Given the description of an element on the screen output the (x, y) to click on. 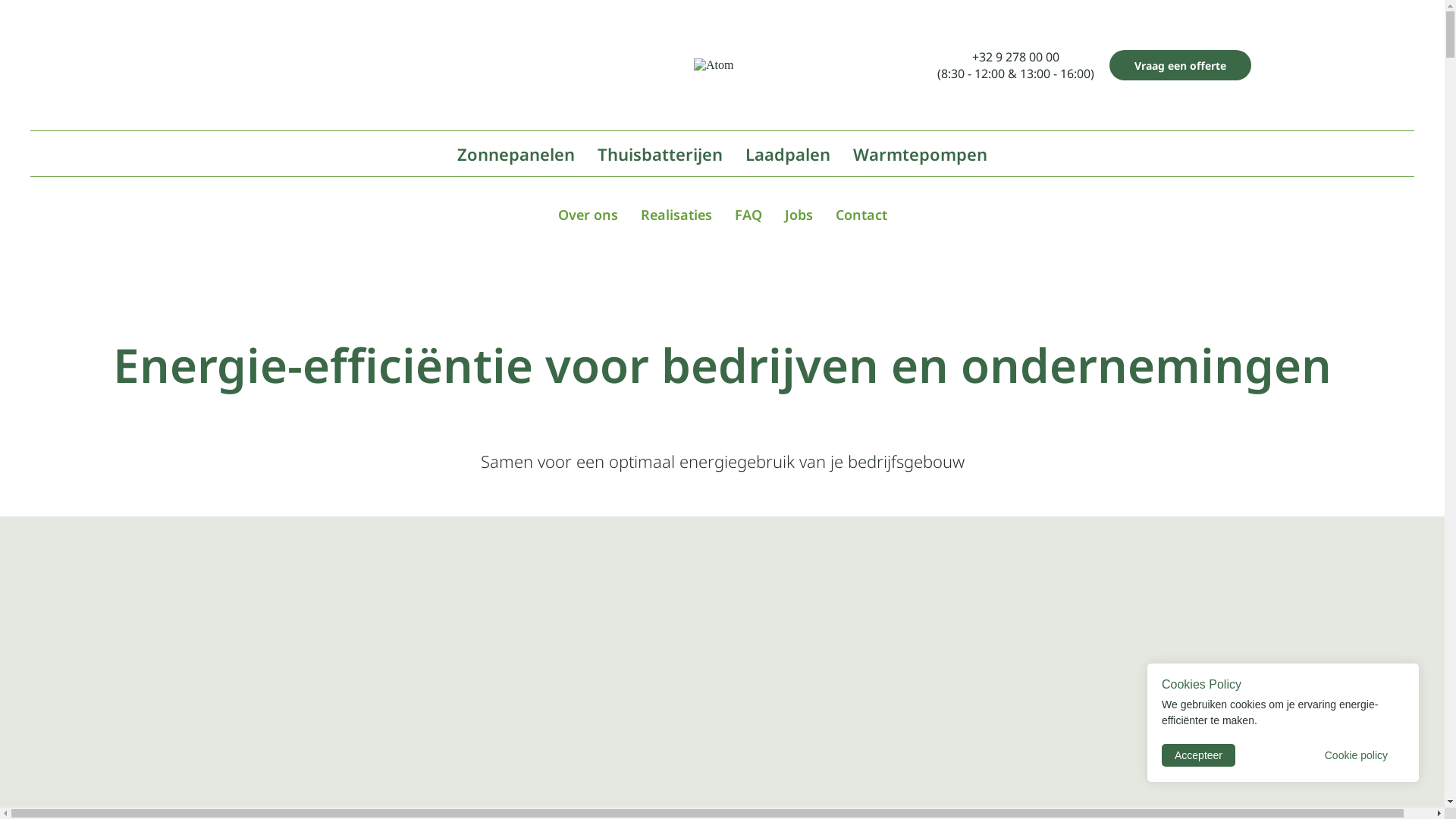
Thuisbatterijen Element type: text (659, 153)
Accepteer Element type: text (1198, 754)
Zonnepanelen Element type: text (515, 153)
FAQ Element type: text (747, 214)
Jobs Element type: text (798, 214)
Over ons Element type: text (588, 214)
Contact Element type: text (861, 214)
Realisaties Element type: text (675, 214)
Warmtepompen Element type: text (920, 153)
Laadpalen Element type: text (787, 153)
Cookie policy Element type: text (1355, 754)
Vraag een offerte Element type: text (1179, 65)
